Given the description of an element on the screen output the (x, y) to click on. 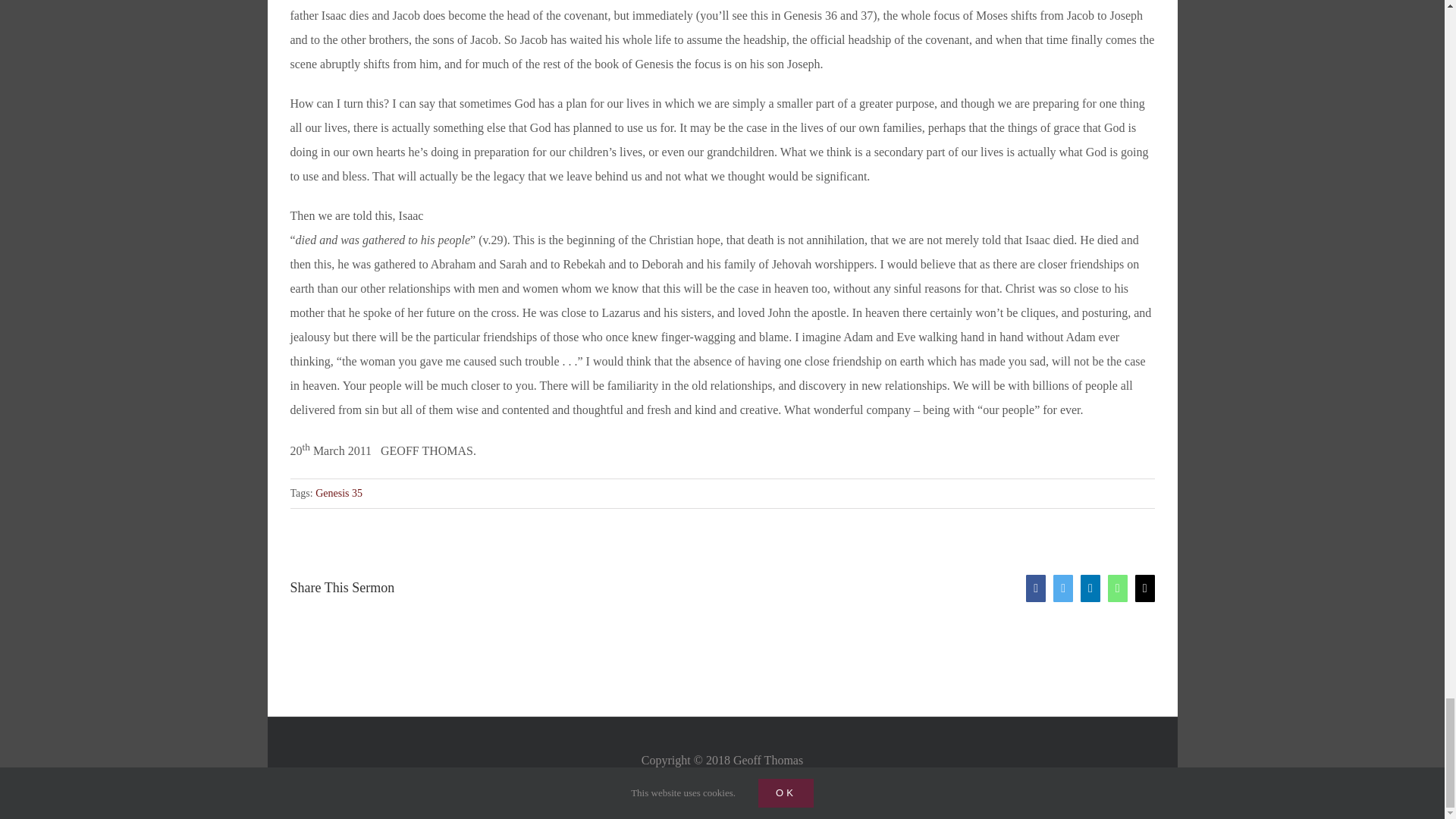
Genesis 35 (338, 492)
